Given the description of an element on the screen output the (x, y) to click on. 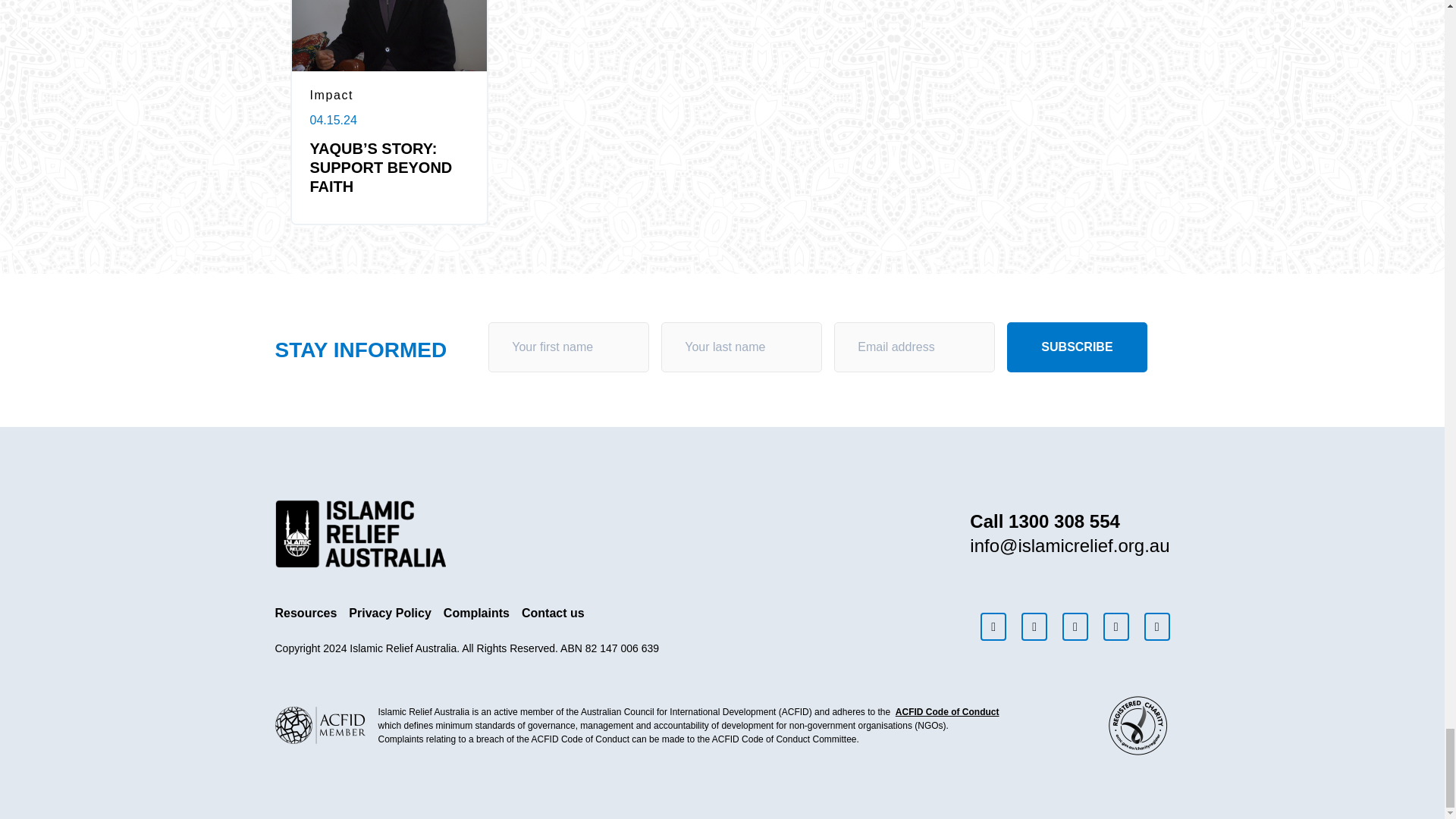
Subscribe (1077, 347)
